Given the description of an element on the screen output the (x, y) to click on. 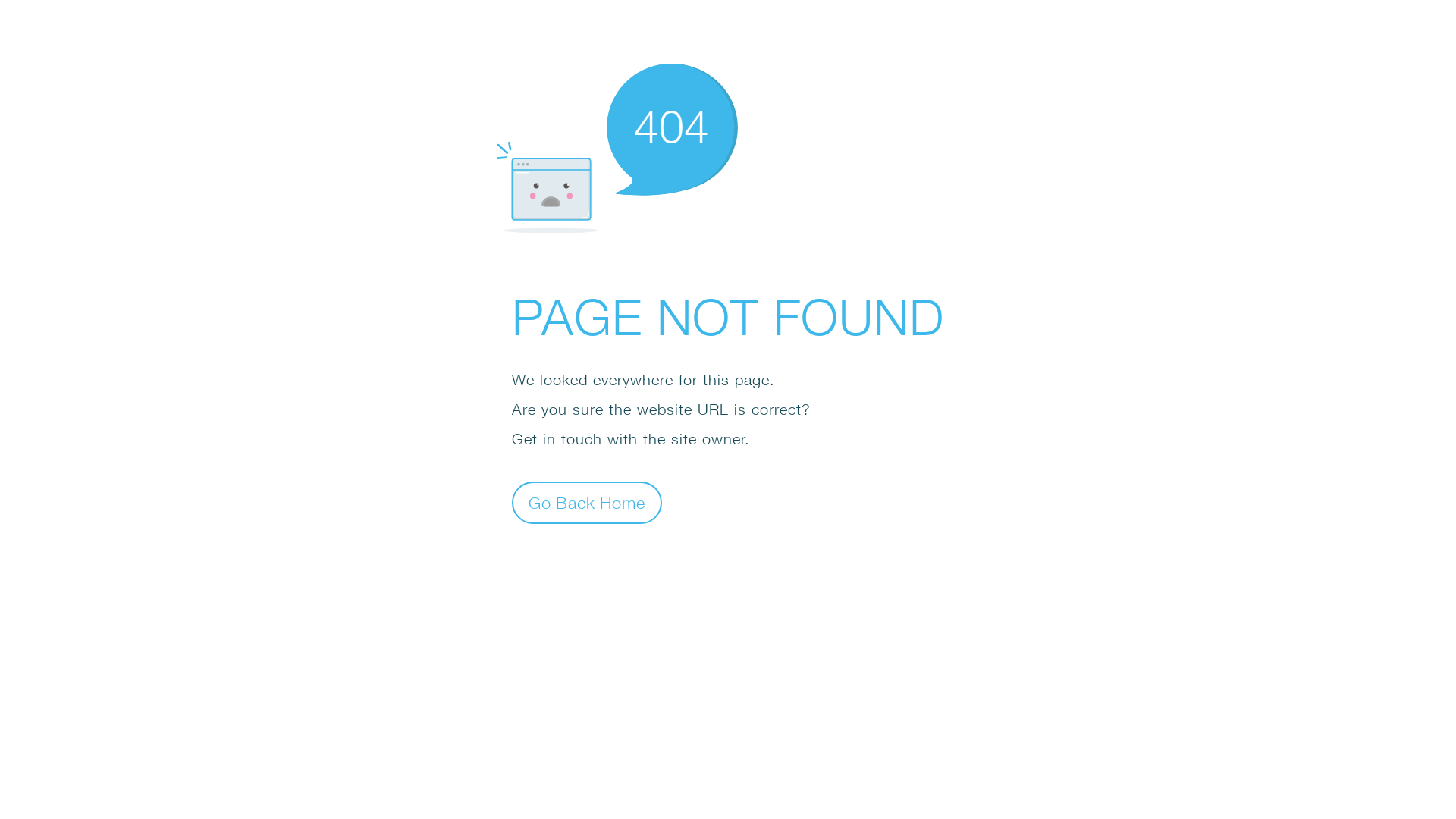
Go Back Home Element type: text (586, 502)
